Given the description of an element on the screen output the (x, y) to click on. 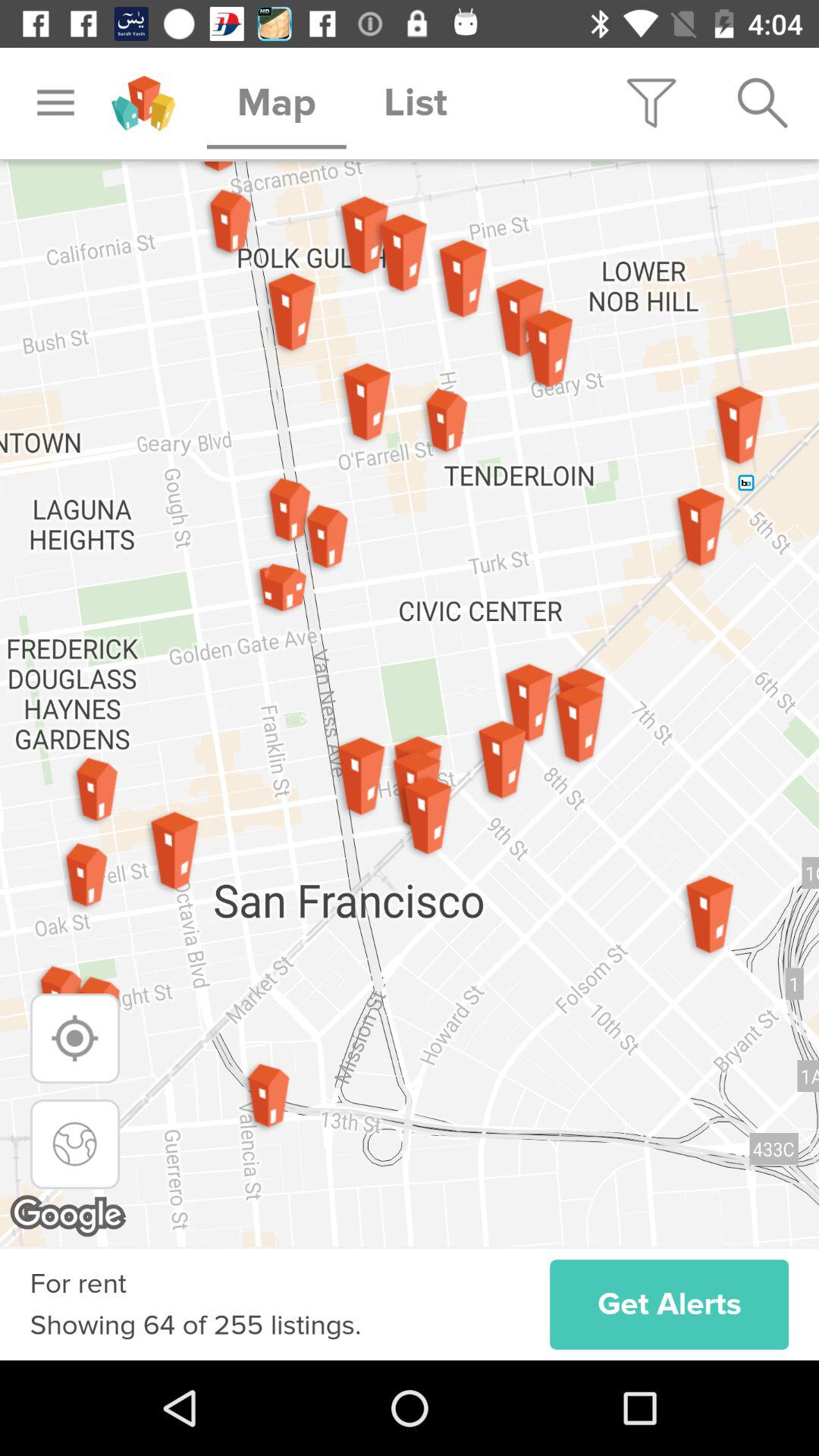
turn on item at the center (409, 703)
